Given the description of an element on the screen output the (x, y) to click on. 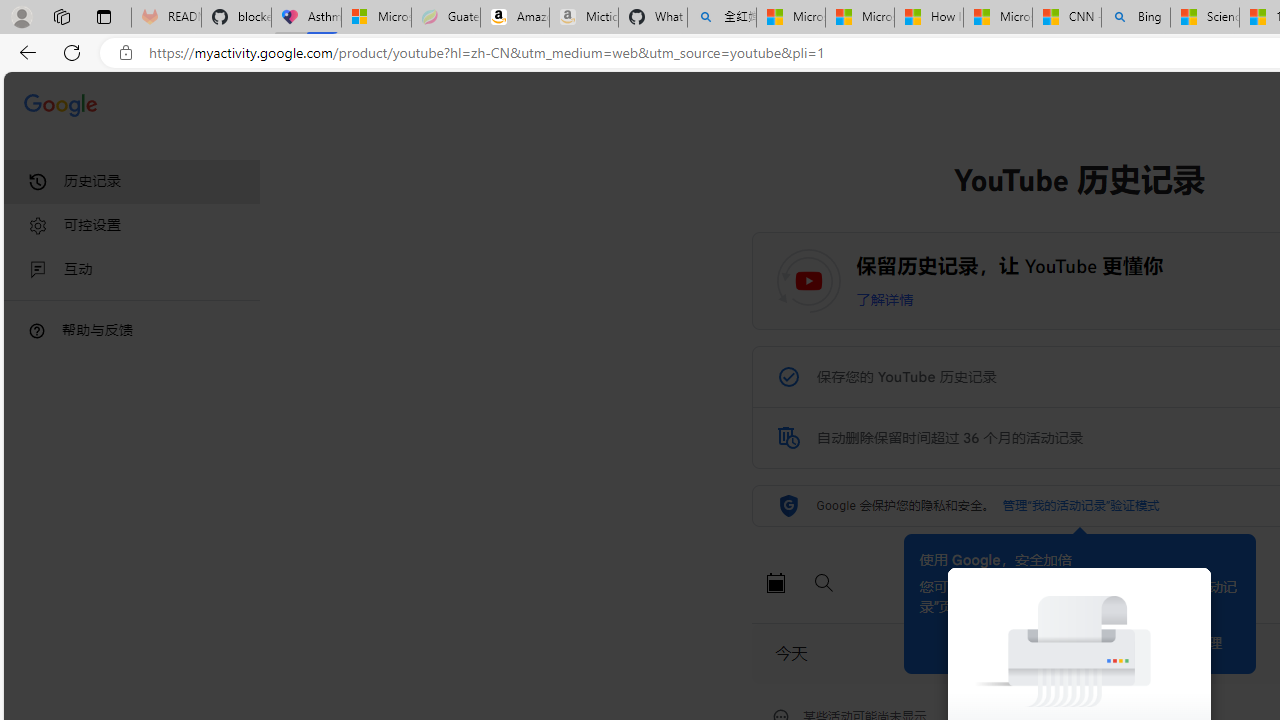
CNN - MSN (1066, 17)
